Given the description of an element on the screen output the (x, y) to click on. 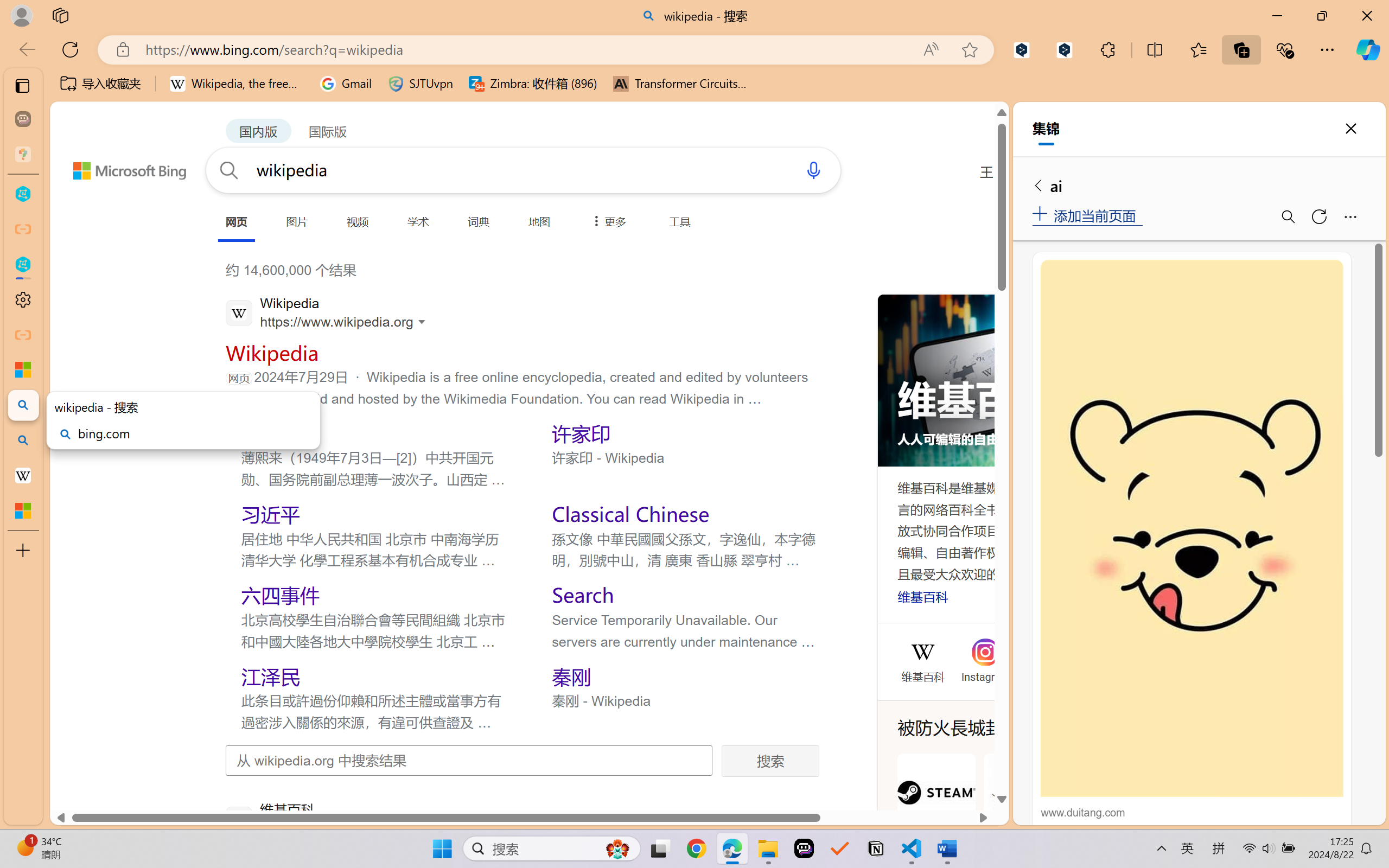
Copilot (Ctrl+Shift+.) (1368, 49)
Wikipedia (922, 652)
